Given the description of an element on the screen output the (x, y) to click on. 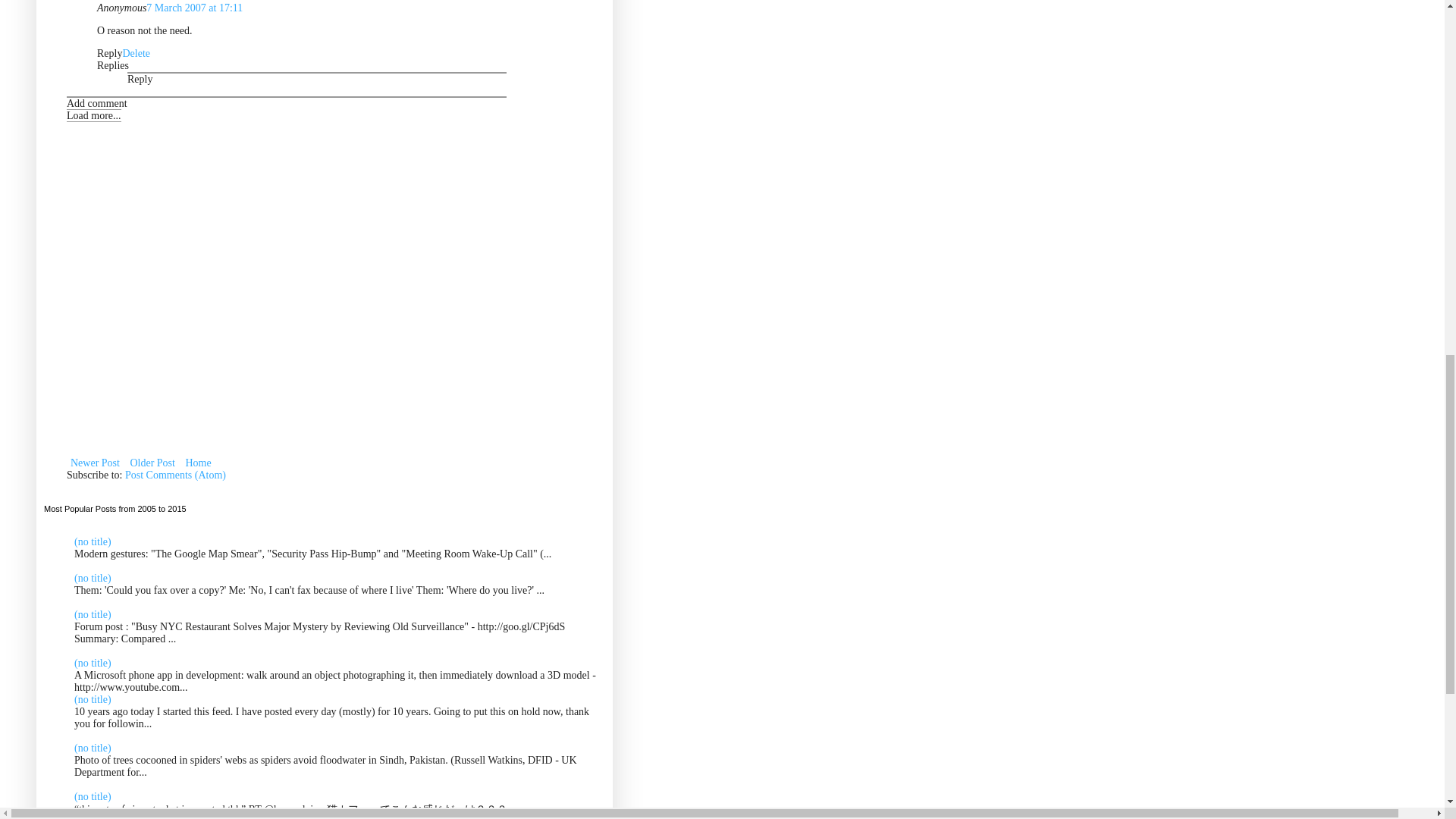
Delete (135, 52)
Older Post (152, 462)
Newer Post (94, 462)
Add comment (97, 102)
Newer Post (94, 462)
Reply (140, 79)
Load more... (93, 115)
Replies (113, 65)
Home (197, 462)
Reply (109, 52)
Older Post (152, 462)
7 March 2007 at 17:11 (195, 7)
